Given the description of an element on the screen output the (x, y) to click on. 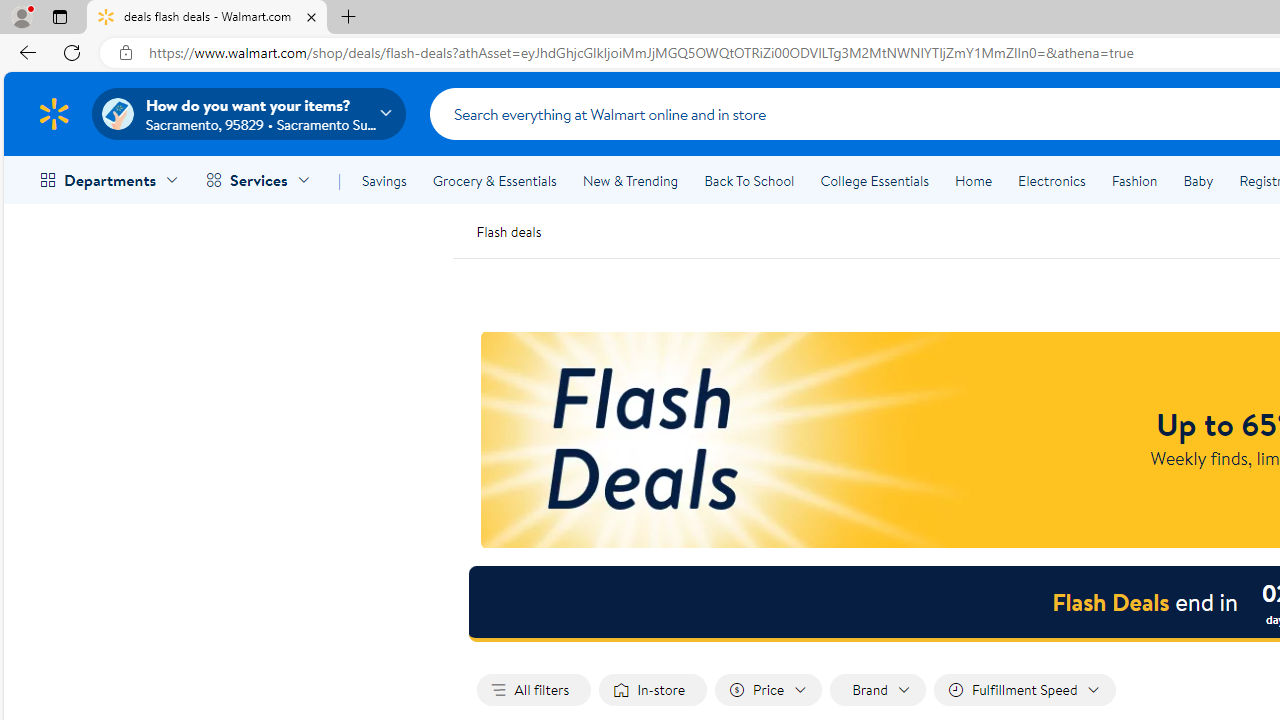
Baby (1197, 180)
College Essentials (874, 180)
Grocery & Essentials (493, 180)
Filter by In-store (653, 690)
